Given the description of an element on the screen output the (x, y) to click on. 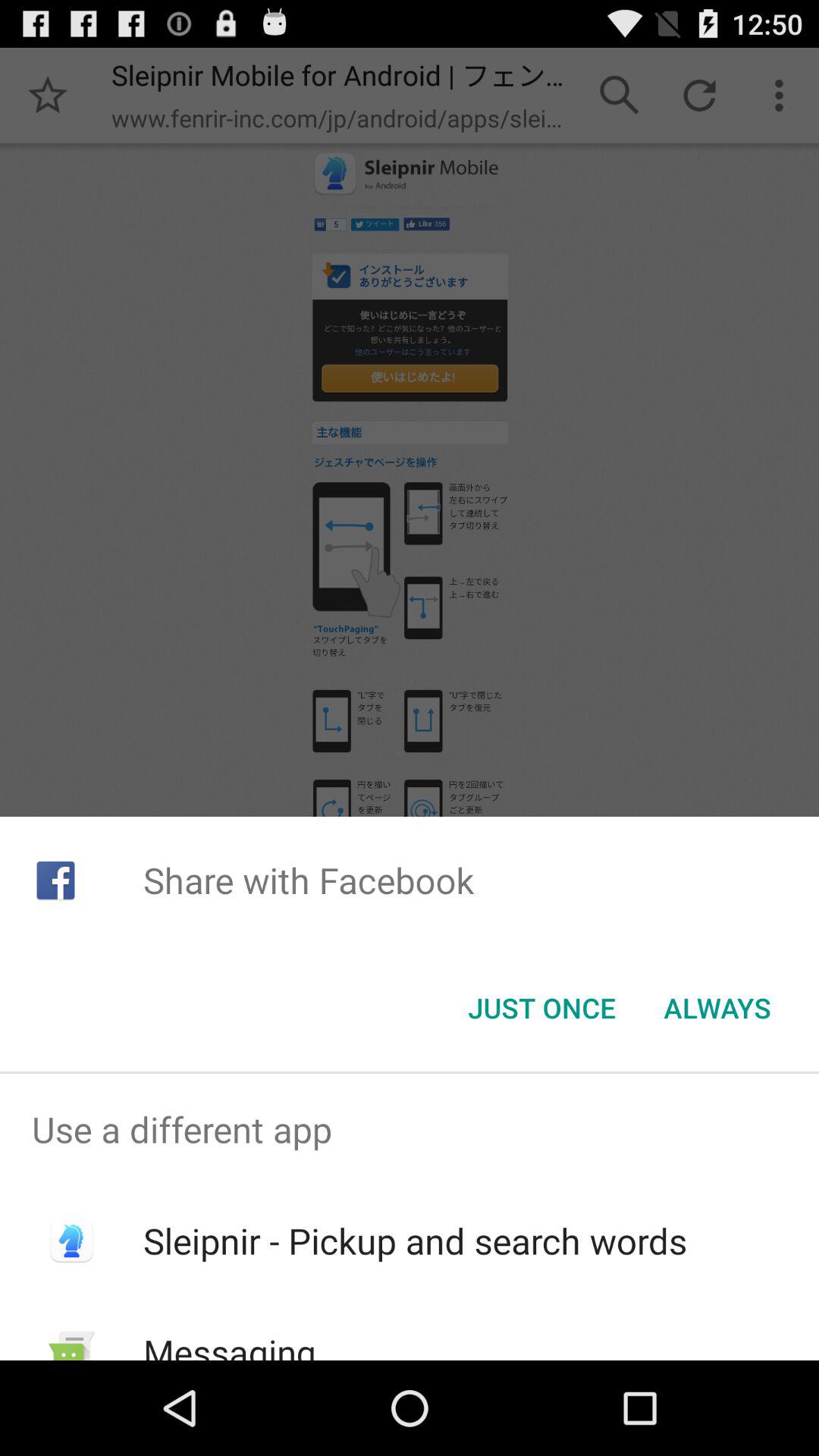
flip to the just once item (541, 1007)
